Given the description of an element on the screen output the (x, y) to click on. 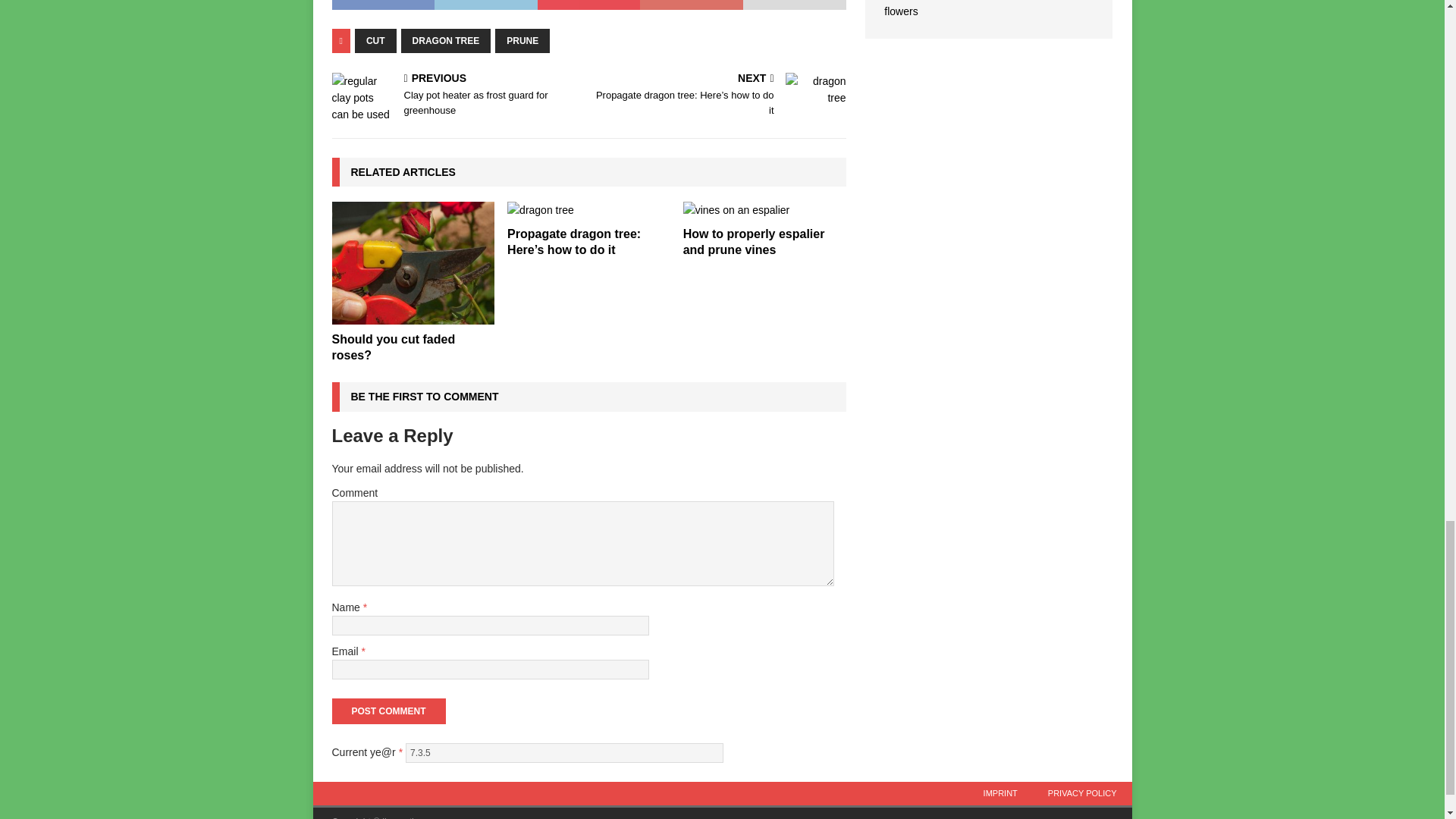
DRAGON TREE (446, 40)
7.3.5 (564, 752)
Post Comment (388, 710)
Should you cut faded roses? (413, 262)
Should you cut faded roses? (457, 95)
CUT (393, 346)
Should you cut faded roses? (375, 40)
PRUNE (393, 346)
